Given the description of an element on the screen output the (x, y) to click on. 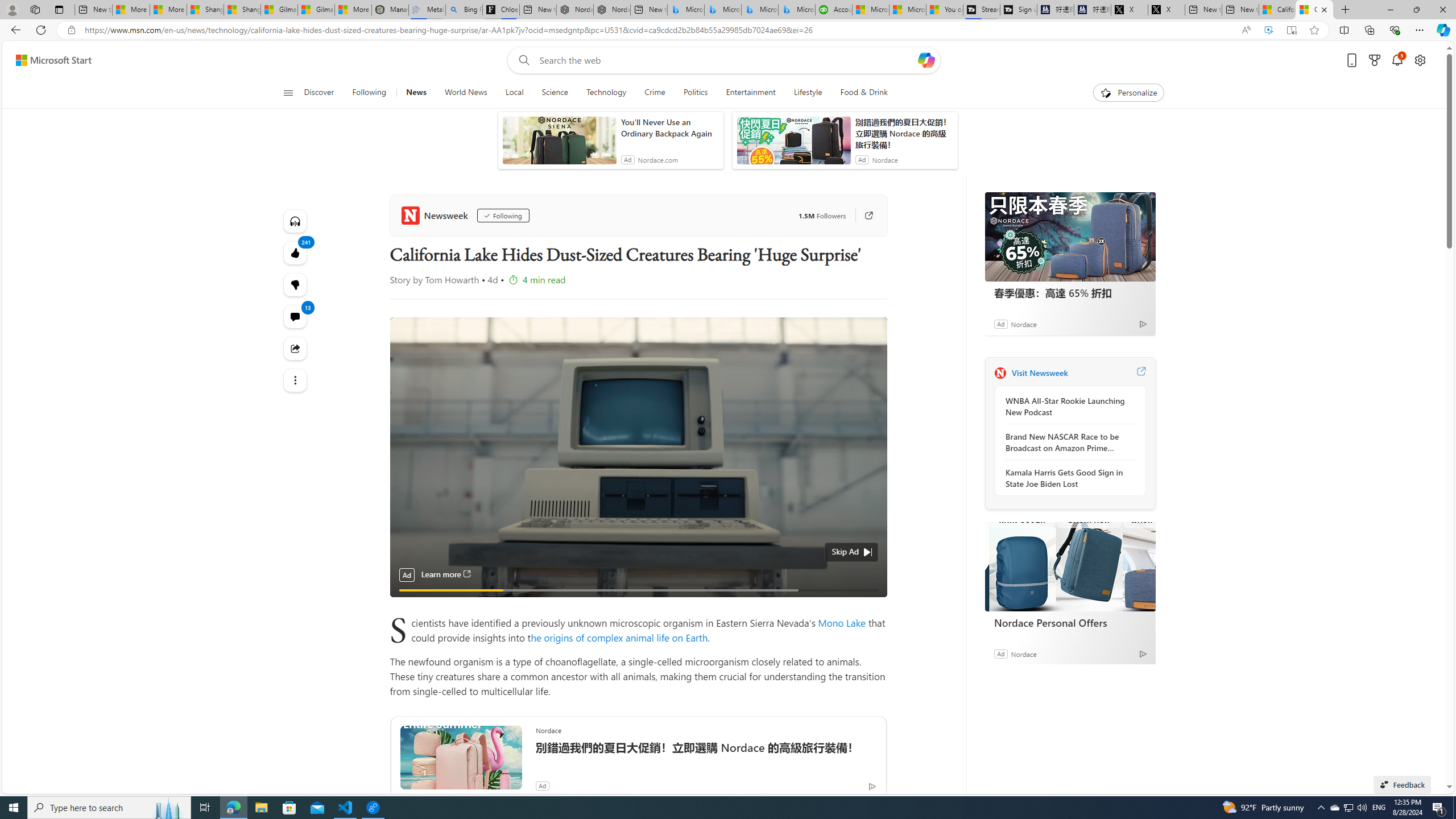
Lifestyle (807, 92)
Accounting Software for Accountants, CPAs and Bookkeepers (833, 9)
Unmute (871, 603)
Nordace Personal Offers (1069, 622)
Chloe Sorvino (500, 9)
